Given the description of an element on the screen output the (x, y) to click on. 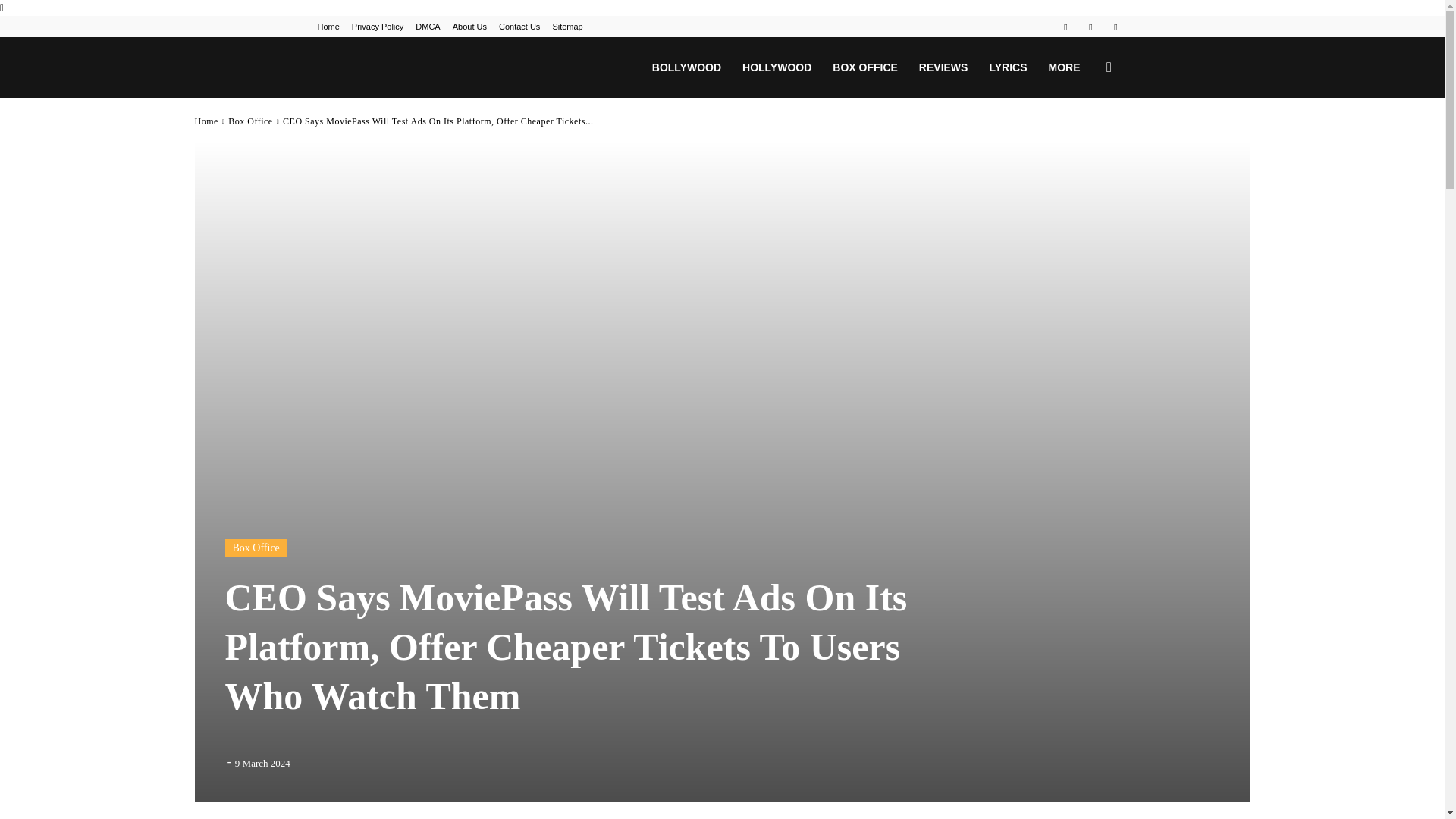
Search (1085, 139)
Contact Us (519, 26)
DMCA (426, 26)
Twitter (1114, 25)
Pinterest (1090, 25)
Privacy Policy (377, 26)
REVIEWS (943, 66)
BOX OFFICE (865, 66)
Facebook (1065, 25)
BOLLYWOOD (687, 66)
LYRICS (1007, 66)
Sitemap (566, 26)
HOLLYWOOD (777, 66)
About Us (469, 26)
Home (328, 26)
